Given the description of an element on the screen output the (x, y) to click on. 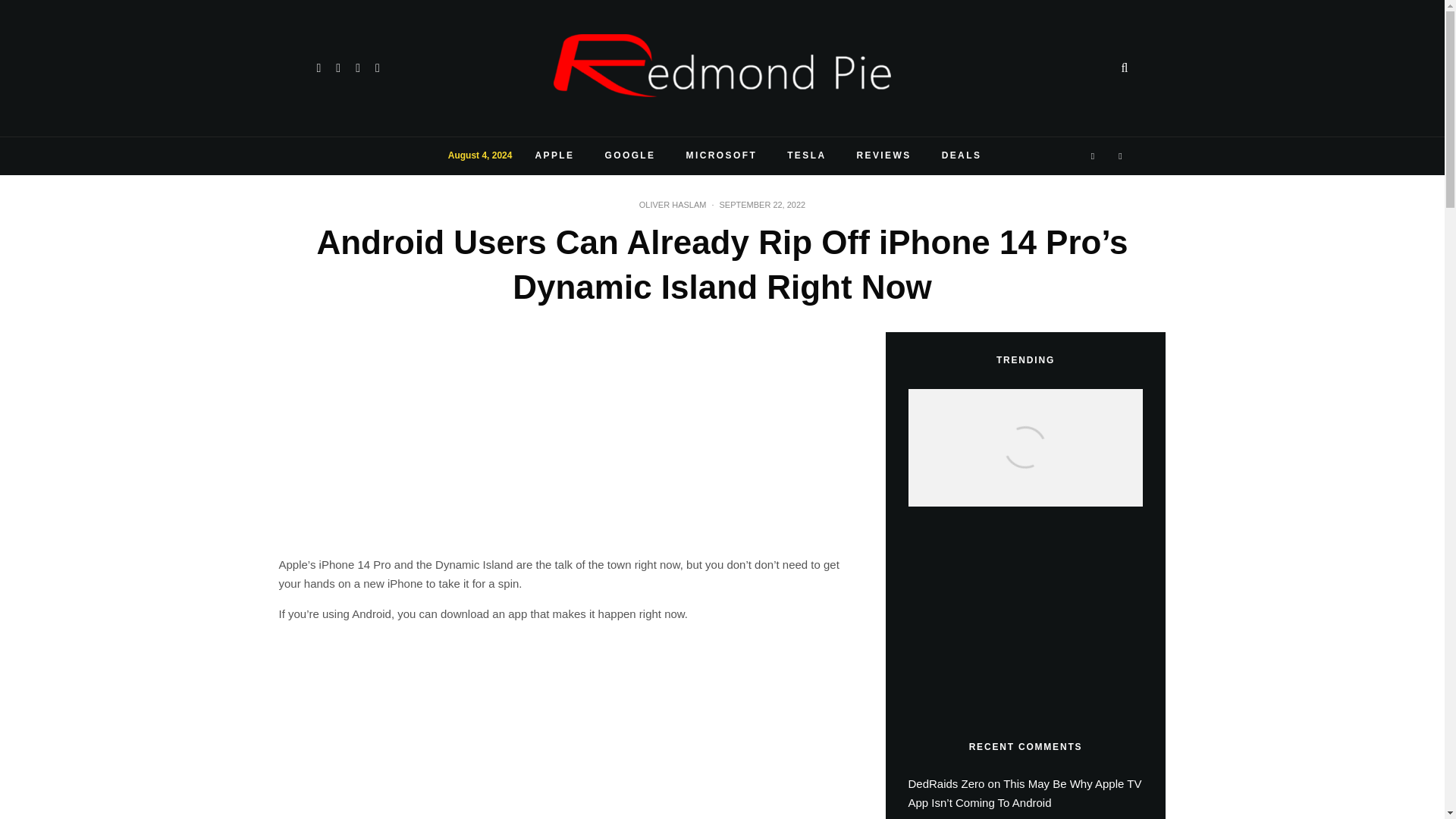
MICROSOFT (722, 156)
APPLE (554, 156)
GOOGLE (629, 156)
TESLA (806, 156)
